Given the description of an element on the screen output the (x, y) to click on. 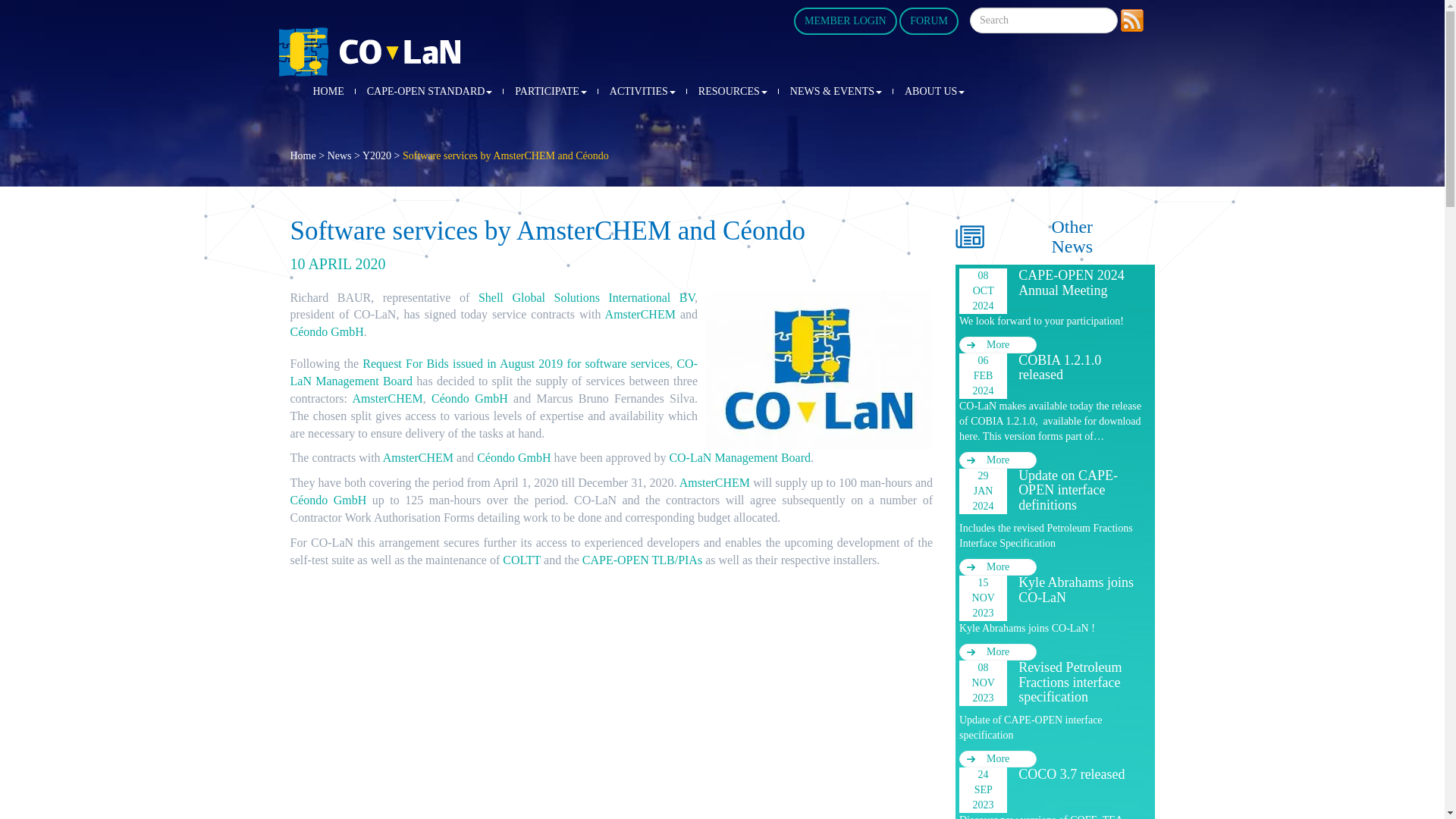
ACTIVITIES (642, 91)
Go to the News category archives. (339, 155)
PARTICIPATE (550, 91)
HOME (328, 91)
Go to the CAPE-OPEN Laboratories Network. (302, 155)
ABOUT US (934, 91)
CAPE-OPEN STANDARD (429, 91)
Go to the Y2020 category archives. (376, 155)
FORUM (928, 21)
RESOURCES (732, 91)
MEMBER LOGIN (844, 21)
